Given the description of an element on the screen output the (x, y) to click on. 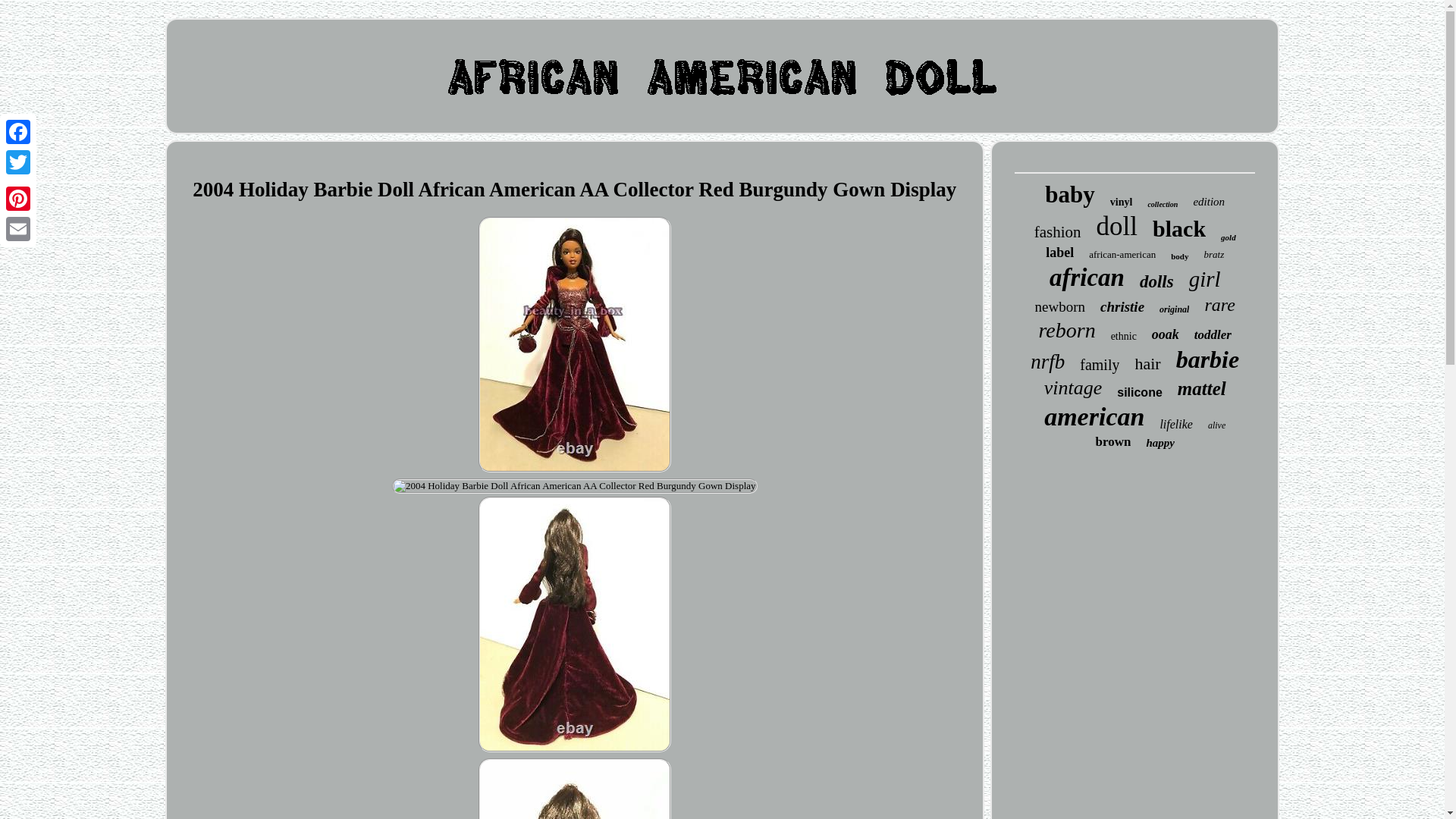
body (1179, 256)
nrfb (1047, 361)
Twitter (17, 162)
christie (1122, 306)
african (1086, 277)
vintage (1072, 387)
Facebook (17, 132)
bratz (1214, 254)
edition (1208, 201)
